Given the description of an element on the screen output the (x, y) to click on. 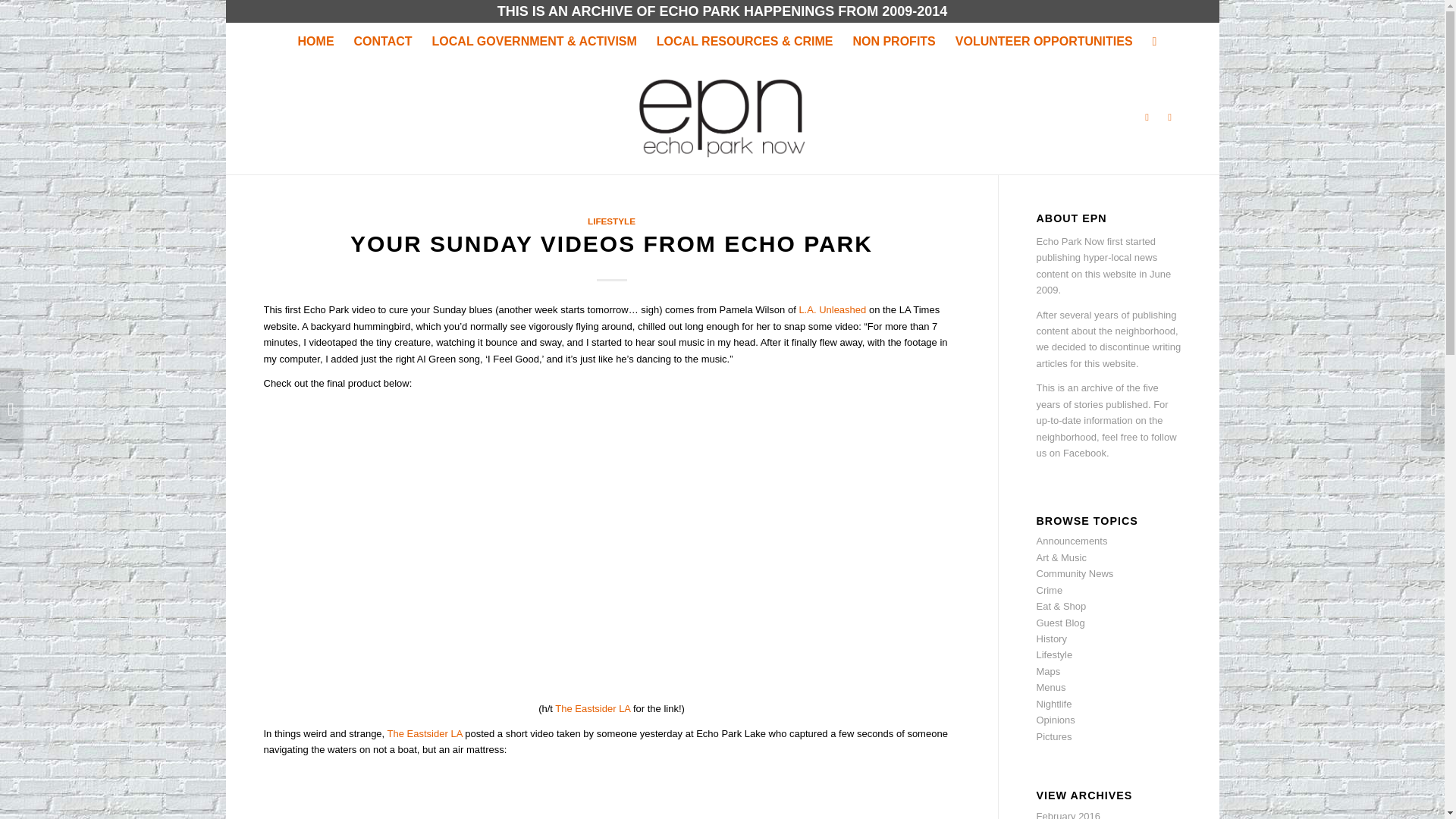
The Eastsider LA (592, 708)
LIFESTYLE (611, 221)
CONTACT (382, 41)
L.A. Unleashed (831, 309)
NON PROFITS (893, 41)
HOME (315, 41)
The Eastsider LA (425, 733)
